Given the description of an element on the screen output the (x, y) to click on. 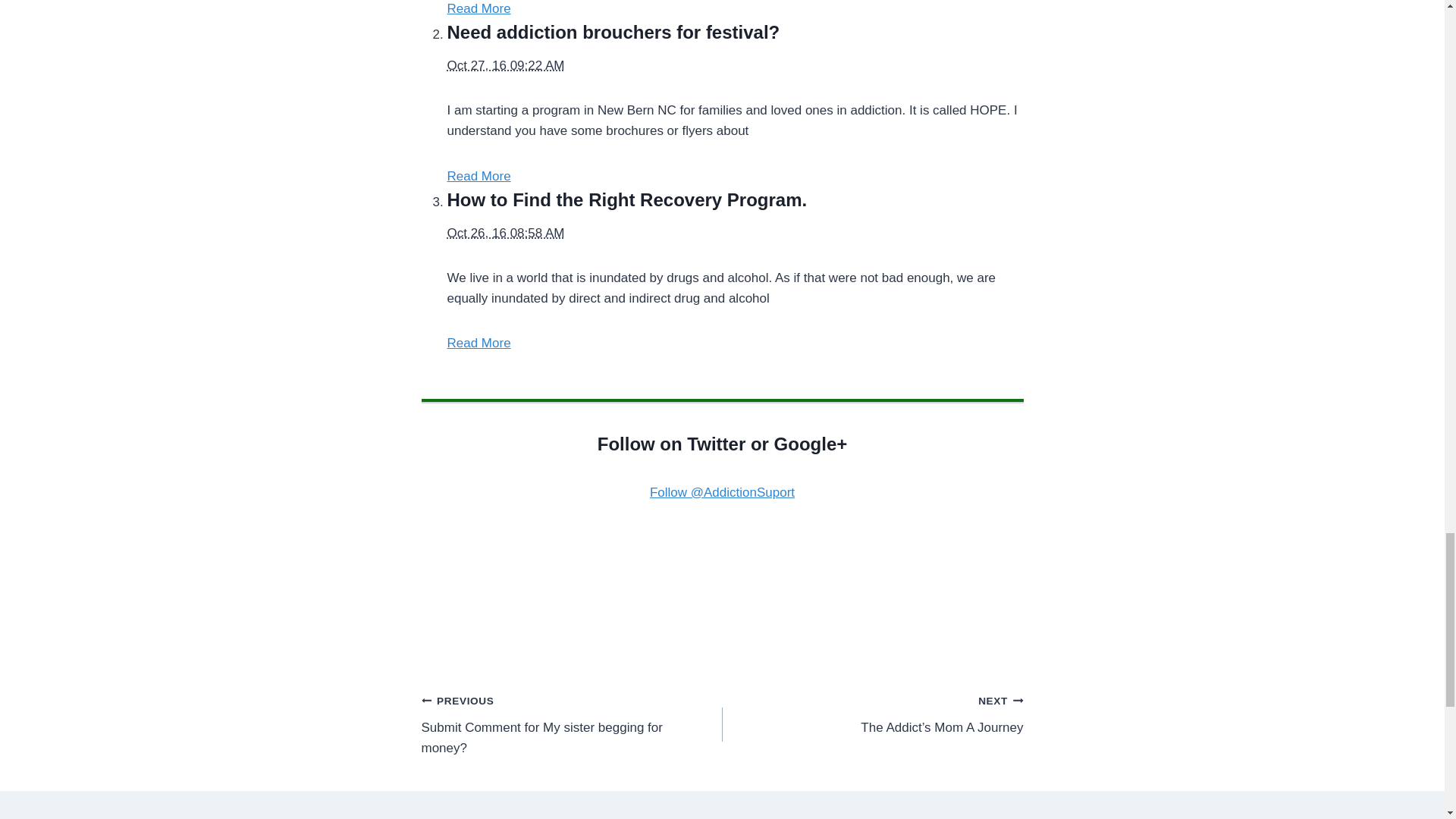
2016-10-27T09:22:11-0400 (505, 65)
Need addiction brouchers for festival? (613, 32)
Read More (478, 342)
Read More (478, 8)
Read More (478, 175)
2016-10-26T08:58:23-0400 (572, 724)
How to Find the Right Recovery Program. (505, 233)
